Given the description of an element on the screen output the (x, y) to click on. 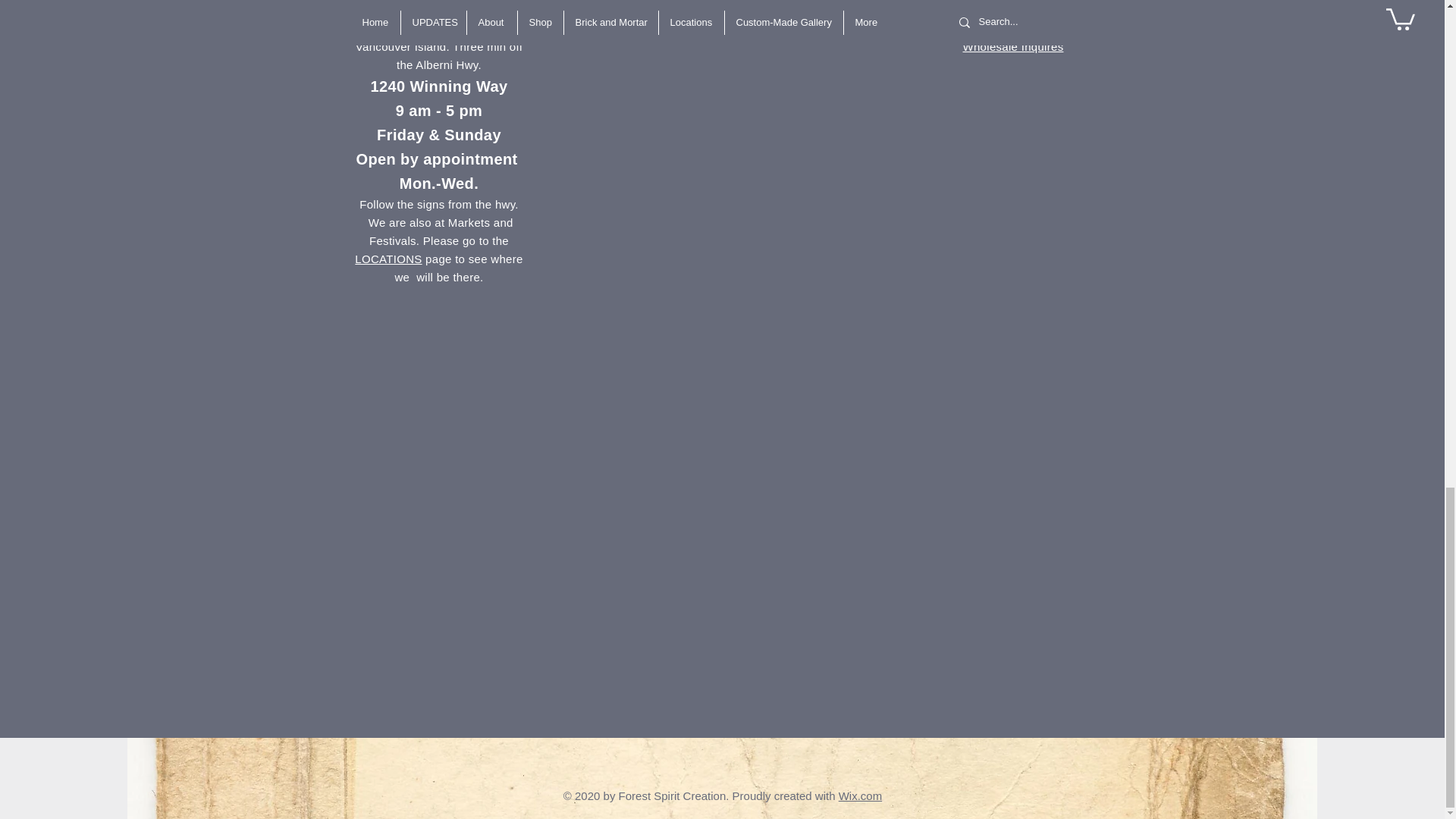
Follow the signs from the hwy. (438, 204)
1240 Winning Way (437, 86)
